Given the description of an element on the screen output the (x, y) to click on. 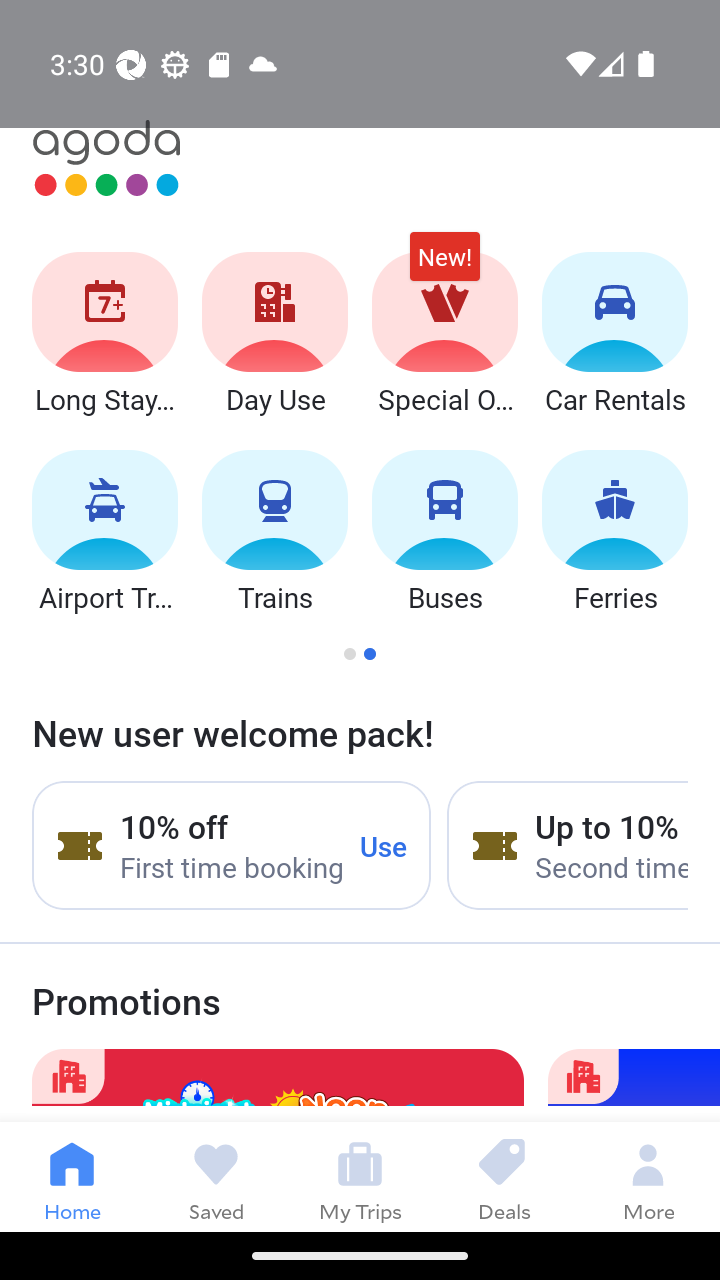
New! (444, 265)
Use (384, 845)
Home (72, 1176)
Saved (216, 1176)
My Trips (360, 1176)
Deals (504, 1176)
More (648, 1176)
